Given the description of an element on the screen output the (x, y) to click on. 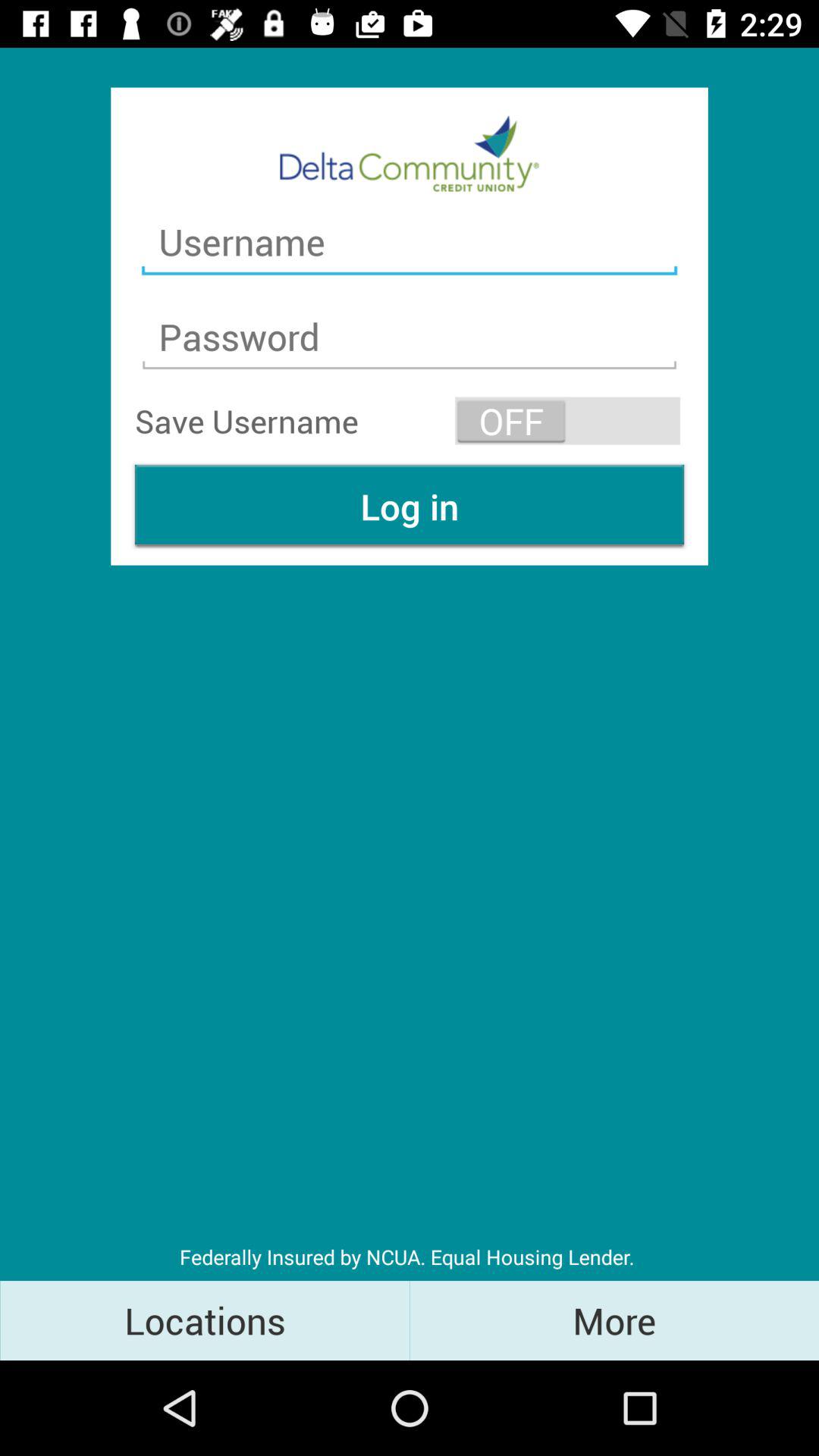
launch the item above the log in (567, 420)
